Given the description of an element on the screen output the (x, y) to click on. 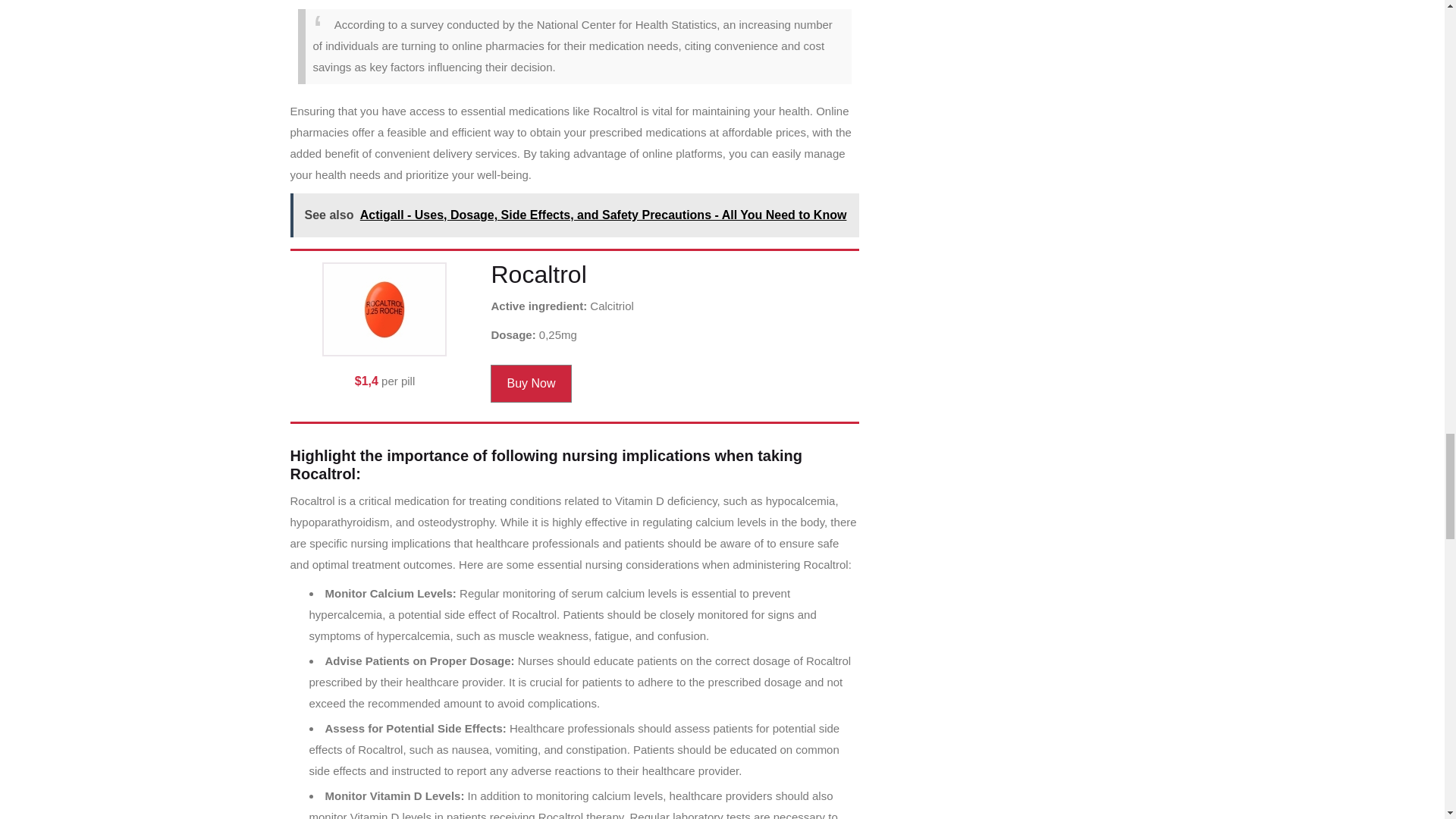
Buy Now (530, 383)
